Given the description of an element on the screen output the (x, y) to click on. 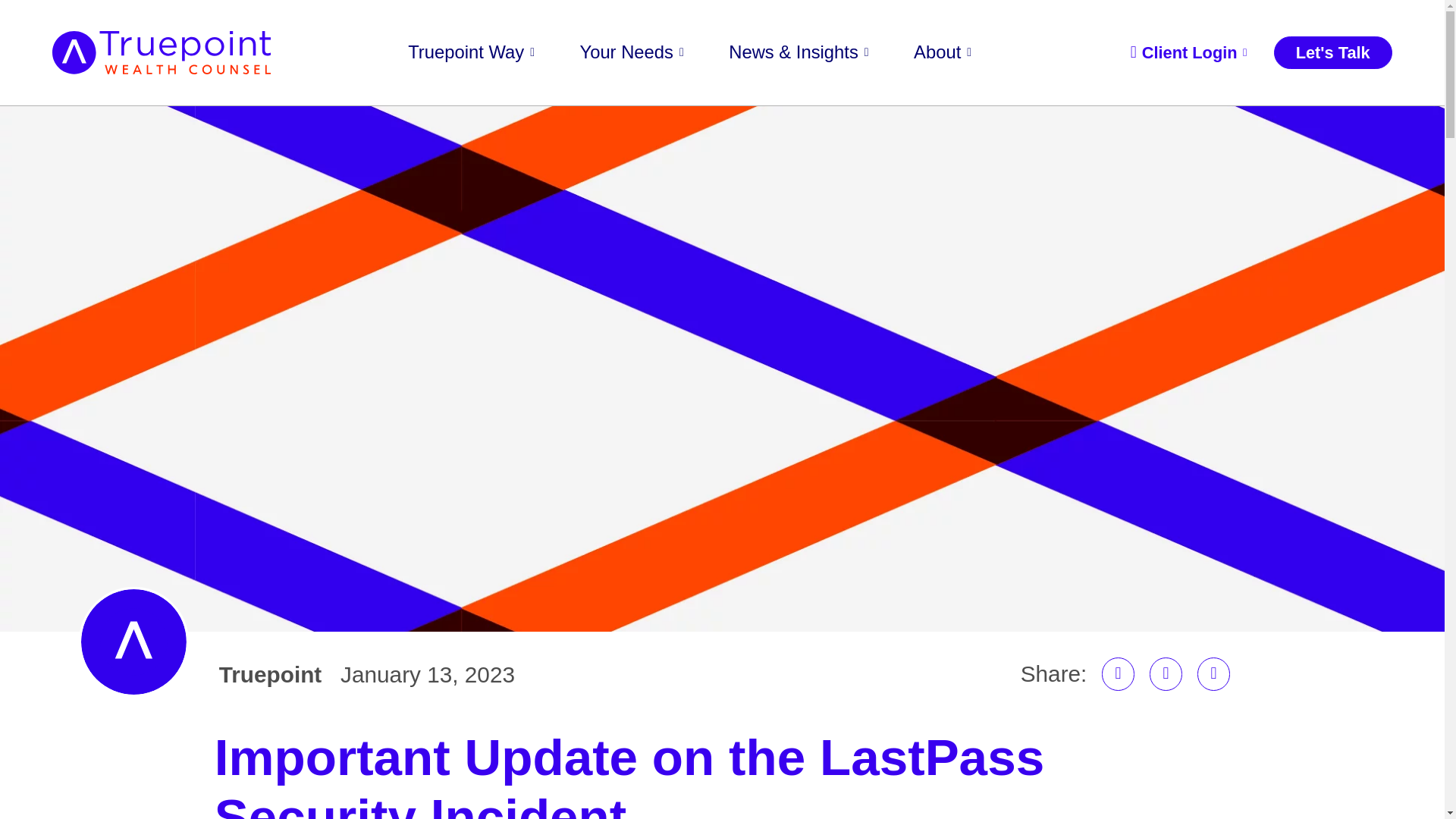
Truepoint Way (470, 52)
Twitter (1213, 674)
Facebook (1166, 674)
Truepoint (270, 674)
Client Login (1188, 52)
Important Update on the LastPass Security Incident (722, 772)
Your Needs (631, 52)
LinkedIn (1118, 674)
About (941, 52)
Facebook (1166, 674)
Let's Talk (1332, 52)
Twitter (1213, 674)
LinkedIn (1118, 674)
